Given the description of an element on the screen output the (x, y) to click on. 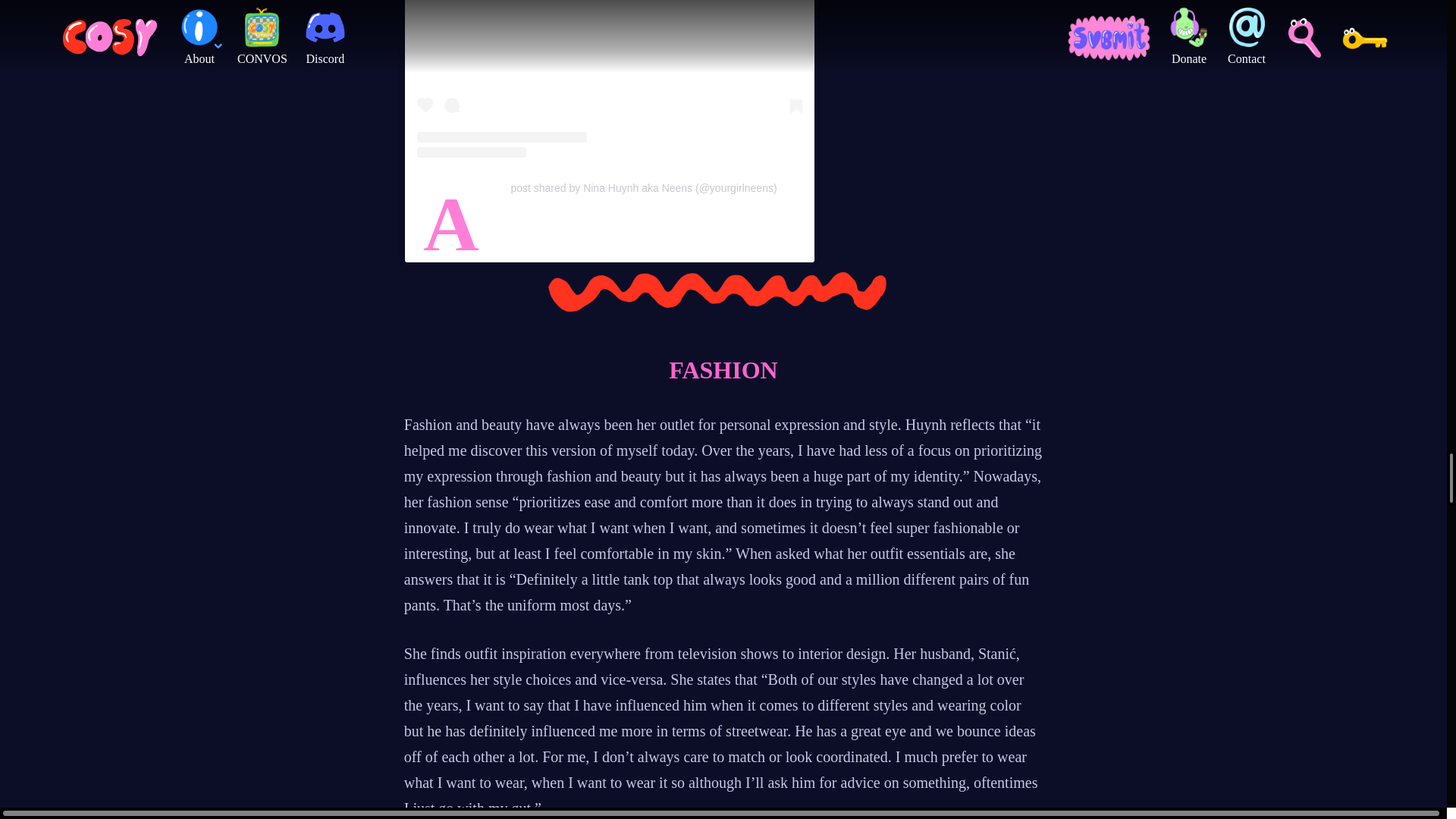
View this post on Instagram (609, 79)
